Given the description of an element on the screen output the (x, y) to click on. 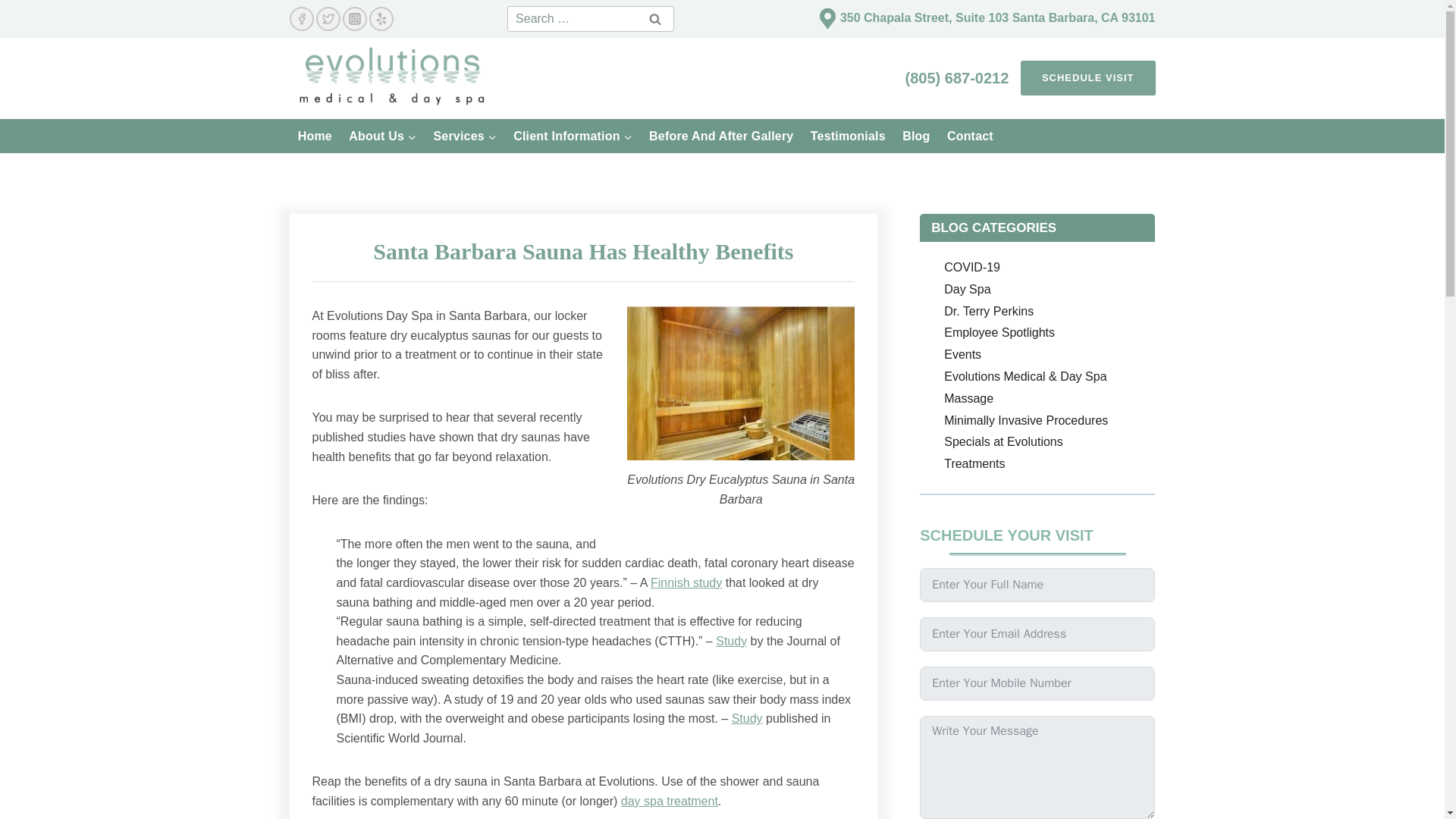
350 Chapala Street, Suite 103 Santa Barbara, CA 93101 (998, 17)
Medical Spa and Day Spa near me (826, 18)
Search (655, 18)
Search (655, 18)
Search (655, 18)
SCHEDULE VISIT (1088, 78)
Home (314, 135)
Services (465, 135)
About Us (382, 135)
